Given the description of an element on the screen output the (x, y) to click on. 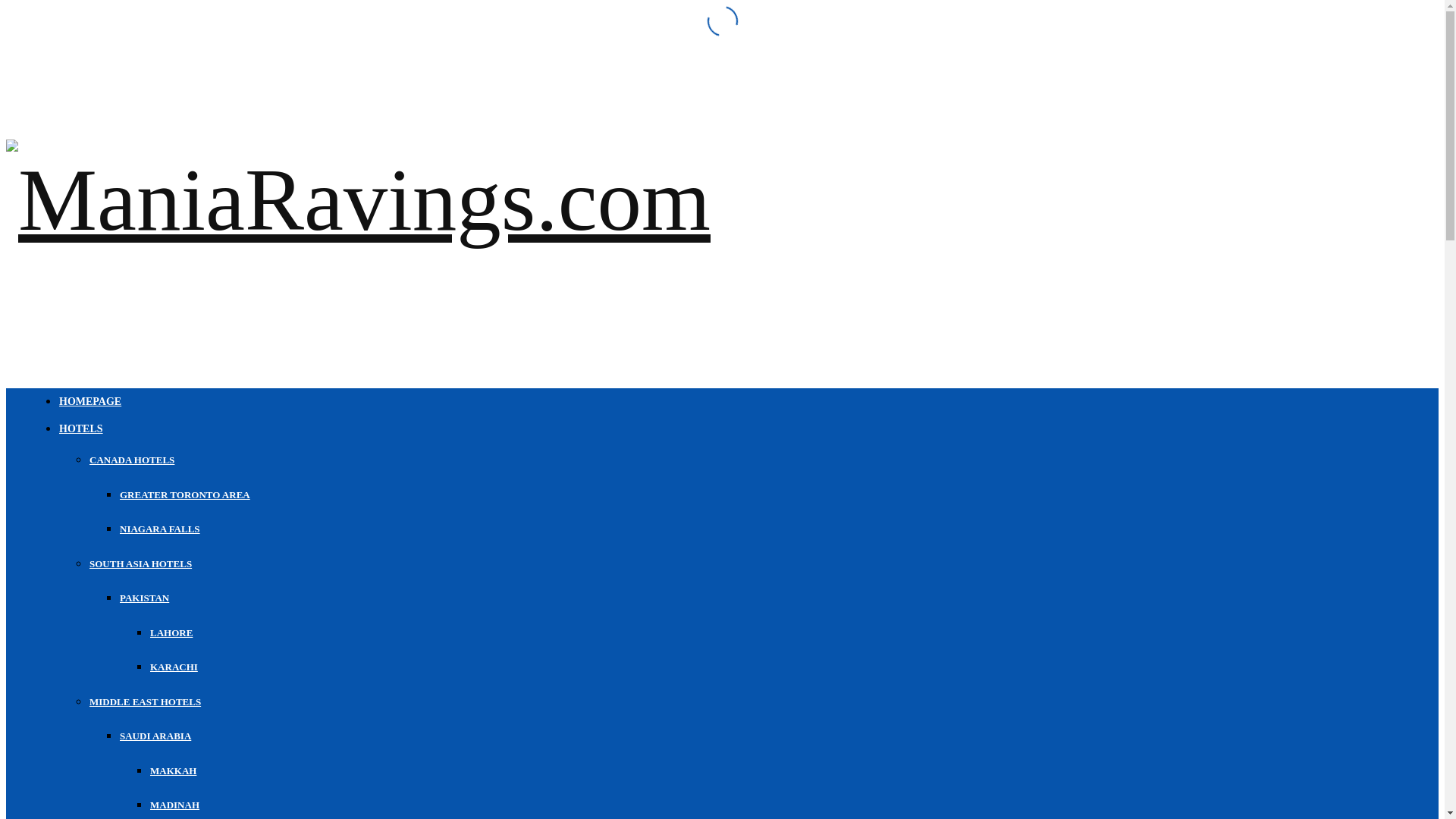
SOUTH ASIA HOTELS (140, 563)
GREATER TORONTO AREA (184, 493)
SAUDI ARABIA (154, 736)
LAHORE (170, 632)
MADINAH (174, 804)
KARACHI (173, 666)
NIAGARA FALLS (159, 528)
MIDDLE EAST HOTELS (144, 701)
ManiaRavings.com (357, 199)
HOTELS (81, 428)
MAKKAH (172, 769)
PAKISTAN (143, 597)
HOMEPAGE (89, 401)
CANADA HOTELS (131, 460)
